Given the description of an element on the screen output the (x, y) to click on. 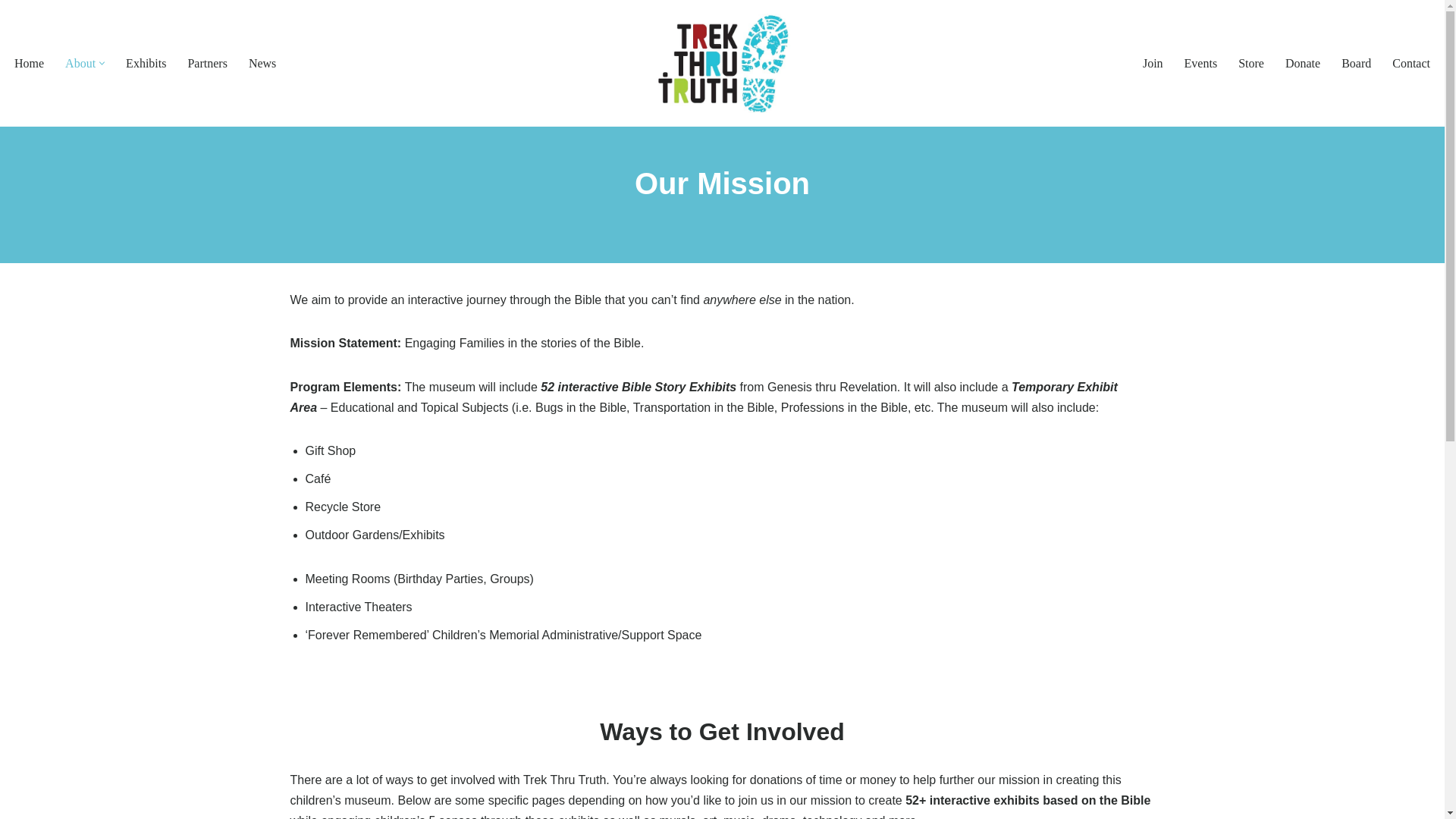
Events (1201, 63)
Board (1355, 63)
Partners (207, 63)
Skip to content (11, 31)
Home (28, 63)
Join (1152, 63)
About (80, 63)
News (262, 63)
Donate (1302, 63)
Contact (1410, 63)
